Given the description of an element on the screen output the (x, y) to click on. 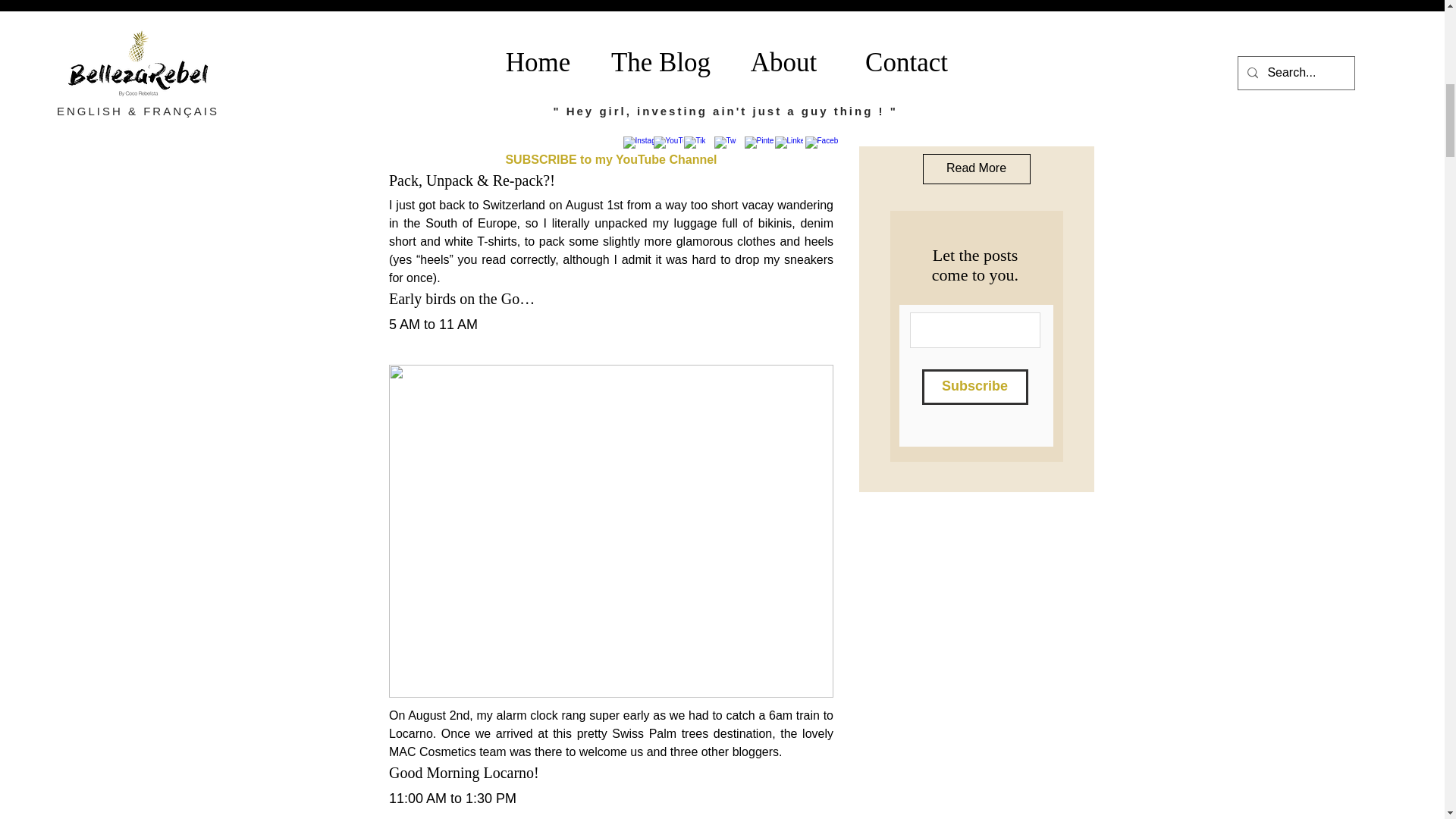
SUBSCRIBE to my YouTube Channel (610, 159)
